Given the description of an element on the screen output the (x, y) to click on. 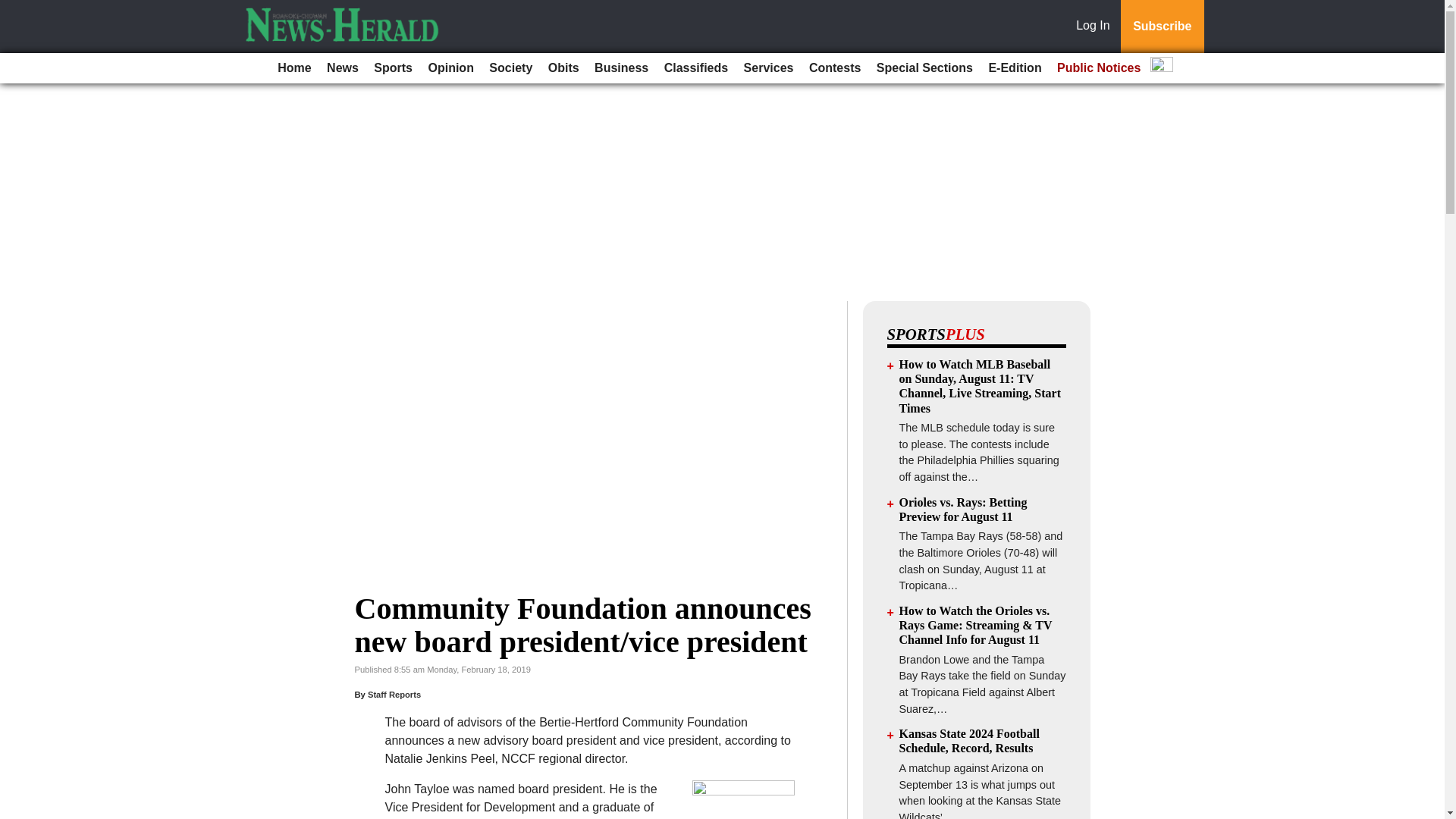
Contests (834, 68)
Home (293, 68)
Obits (563, 68)
Business (620, 68)
News (342, 68)
Go (13, 9)
Special Sections (924, 68)
Classifieds (695, 68)
Services (768, 68)
Sports (393, 68)
